Given the description of an element on the screen output the (x, y) to click on. 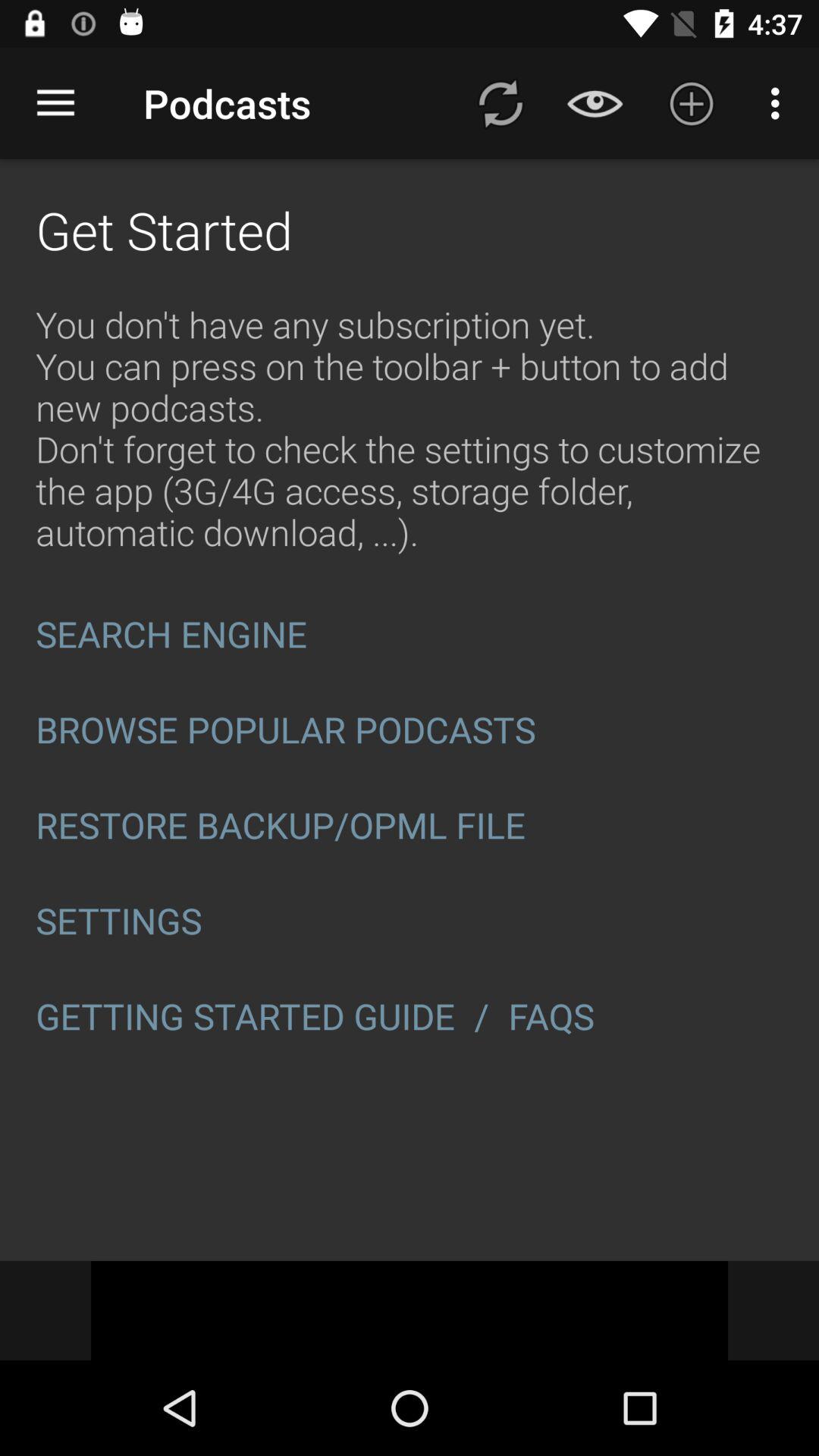
press faqs at the bottom right corner (556, 1016)
